Given the description of an element on the screen output the (x, y) to click on. 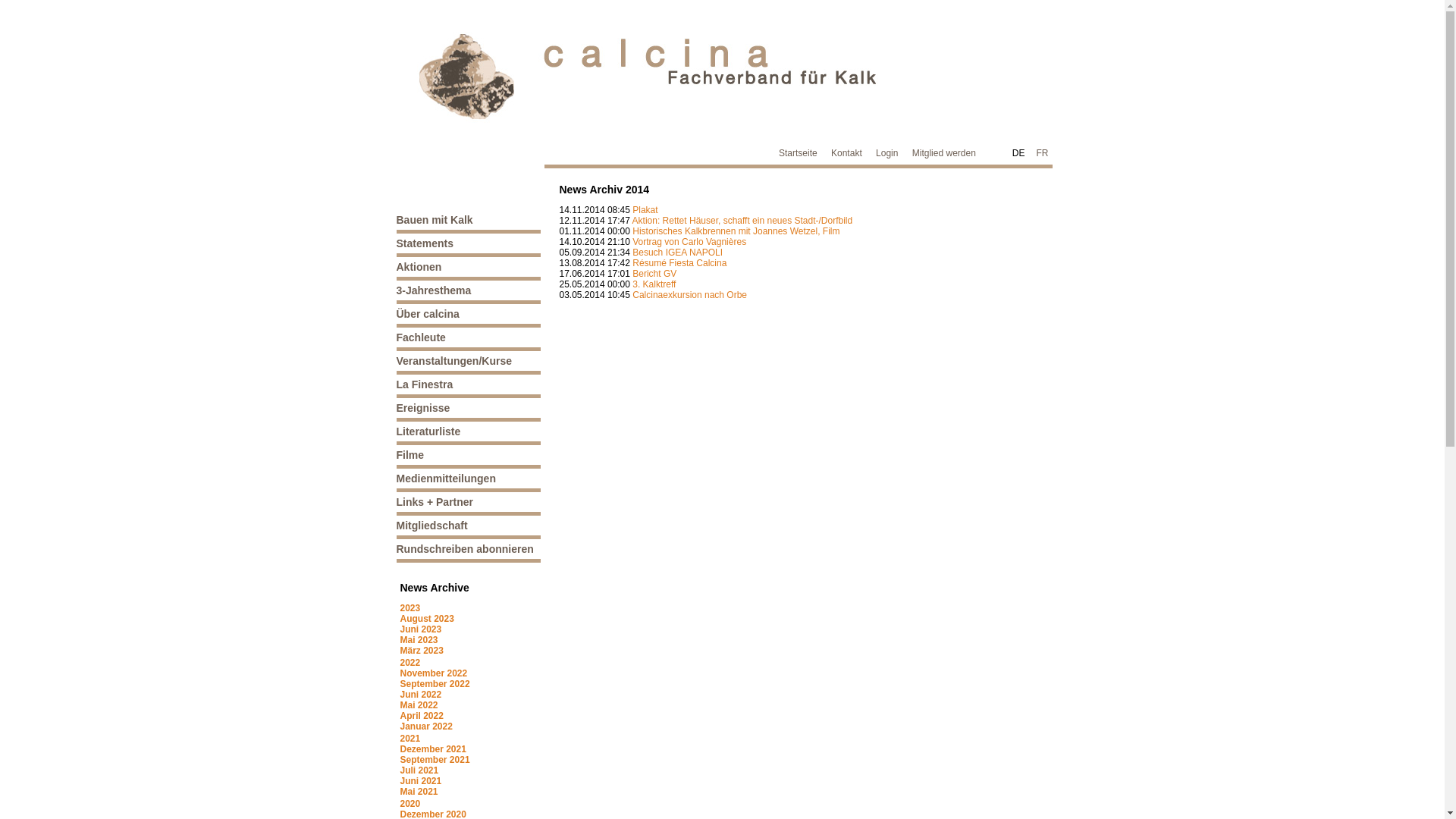
2022 Element type: text (410, 662)
Aktionen Element type: text (418, 266)
Mai 2022 Element type: text (419, 704)
Mitgliedschaft Element type: text (431, 525)
Veranstaltungen/Kurse Element type: text (453, 360)
Juli 2021 Element type: text (419, 770)
3. Kalktreff Element type: text (653, 284)
Kontakt Element type: text (846, 152)
Historisches Kalkbrennen mit Joannes Wetzel, Film Element type: text (735, 230)
Juni 2021 Element type: text (421, 780)
3-Jahresthema Element type: text (432, 290)
Mai 2021 Element type: text (419, 791)
2020 Element type: text (410, 803)
  Element type: text (762, 157)
November 2022 Element type: text (433, 673)
Dezember 2021 Element type: text (433, 748)
Plakat Element type: text (644, 209)
Juni 2023 Element type: text (421, 629)
Besuch IGEA NAPOLI Element type: text (677, 252)
Startseite Element type: text (797, 152)
Rundschreiben abonnieren Element type: text (464, 548)
September 2021 Element type: text (435, 759)
FR Element type: text (1041, 152)
Calcinaexkursion nach Orbe Element type: text (689, 294)
Medienmitteilungen Element type: text (445, 478)
Statements Element type: text (423, 243)
Links + Partner Element type: text (434, 501)
Januar 2022 Element type: text (426, 726)
Mitglied werden Element type: text (943, 152)
Bericht GV Element type: text (654, 273)
Ereignisse Element type: text (422, 407)
April 2022 Element type: text (421, 715)
  Element type: text (391, 561)
Login Element type: text (886, 152)
Fachleute Element type: text (420, 337)
Mai 2023 Element type: text (419, 639)
Filme Element type: text (409, 454)
Juni 2022 Element type: text (421, 694)
Bauen mit Kalk Element type: text (433, 219)
September 2022 Element type: text (435, 683)
2021 Element type: text (410, 738)
Literaturliste Element type: text (427, 431)
La Finestra Element type: text (423, 384)
2023 Element type: text (410, 607)
August 2023 Element type: text (427, 618)
